Given the description of an element on the screen output the (x, y) to click on. 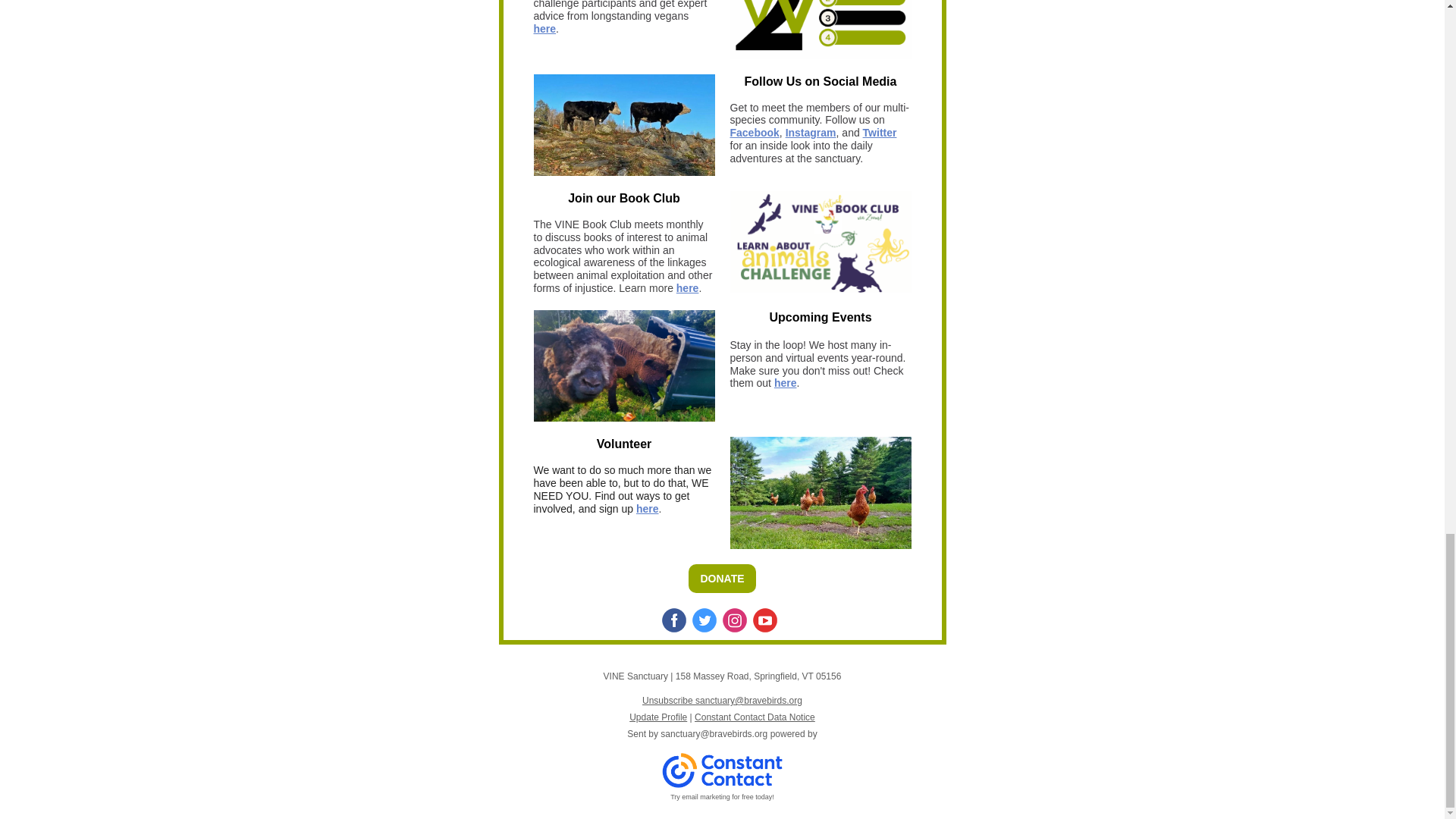
Update Profile (657, 716)
Constant Contact Data Notice (754, 716)
Facebook (753, 132)
here (785, 382)
here (687, 287)
here (647, 508)
Instagram (810, 132)
DONATE (722, 578)
here (545, 28)
Twitter (879, 132)
Try email marketing for free today! (721, 796)
